Given the description of an element on the screen output the (x, y) to click on. 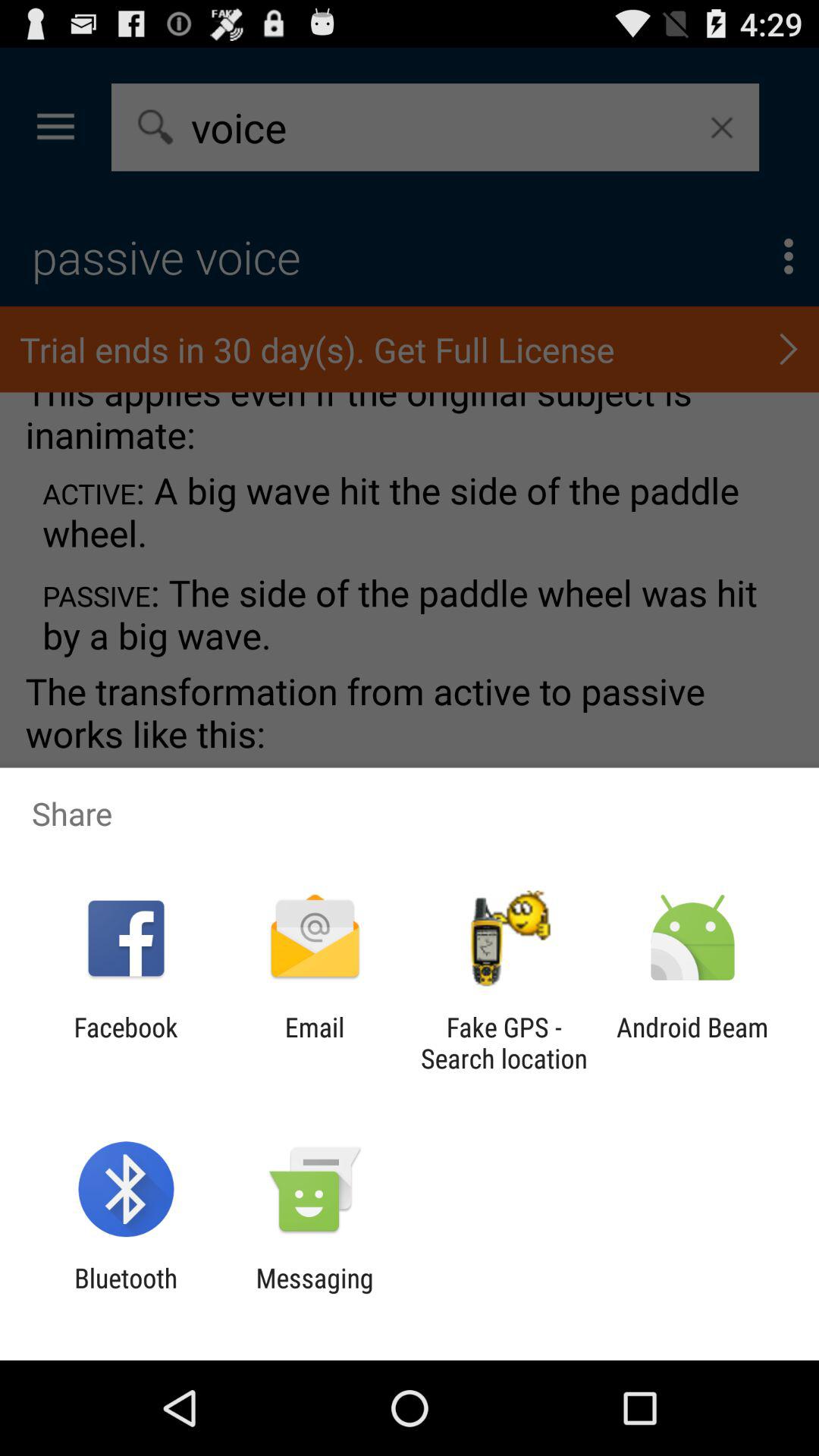
turn on the item to the right of fake gps search (692, 1042)
